Given the description of an element on the screen output the (x, y) to click on. 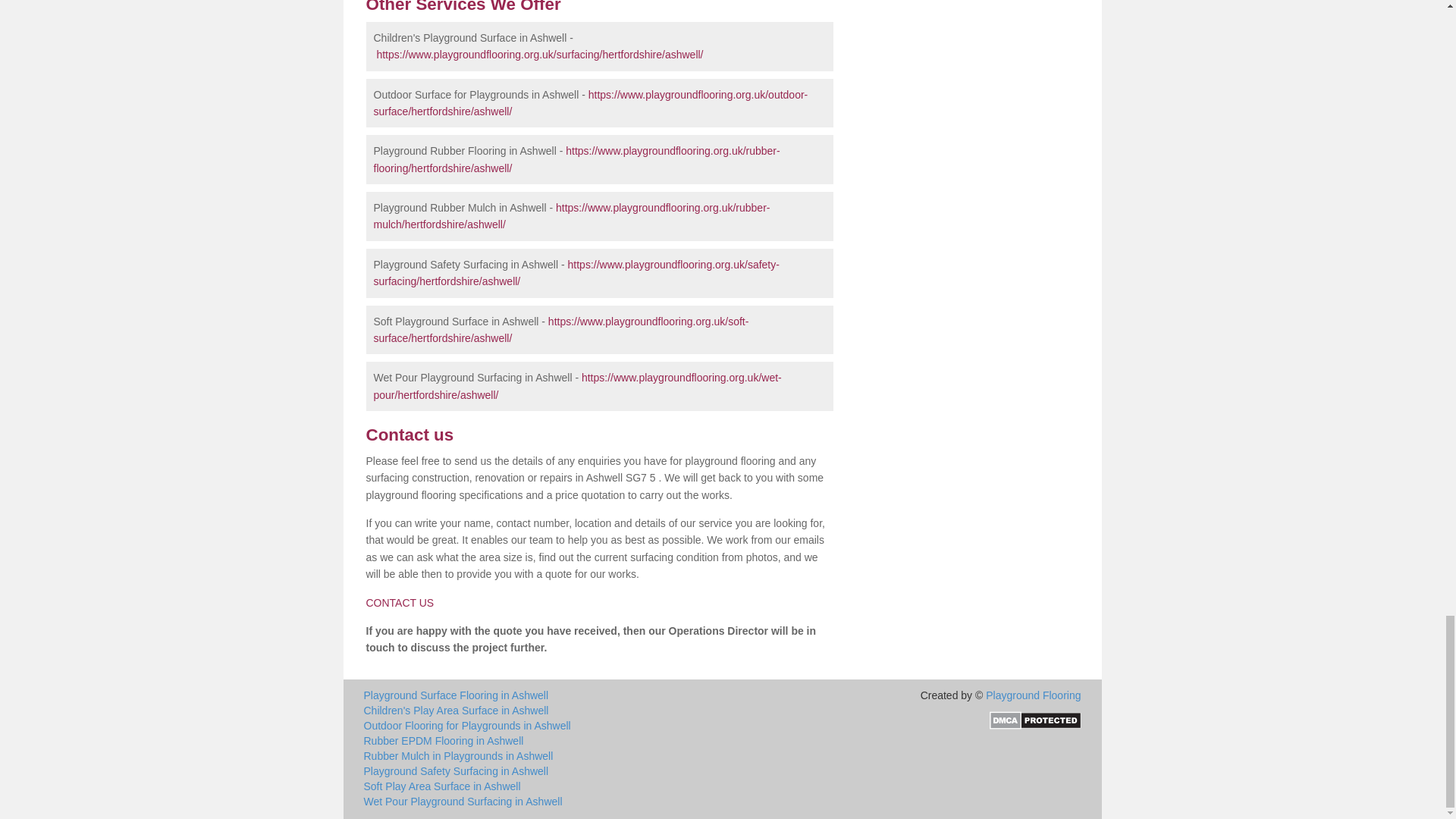
Playground Flooring (1032, 695)
DMCA.com Protection Status (1034, 718)
